Given the description of an element on the screen output the (x, y) to click on. 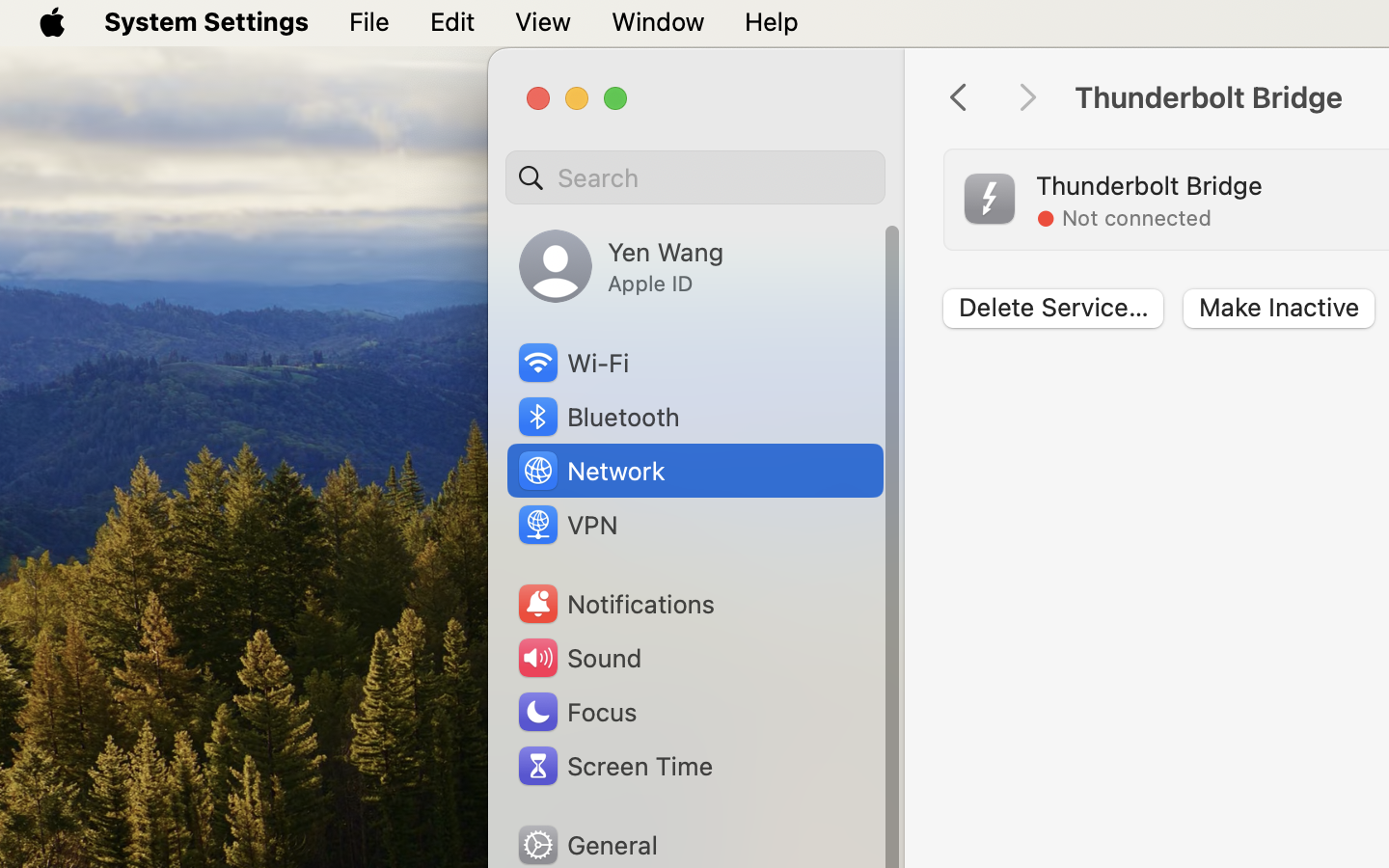
Network Element type: AXStaticText (590, 470)
Thunderbolt Bridge Element type: AXStaticText (1148, 184)
Wi‑Fi Element type: AXStaticText (571, 362)
Yen Wang, Apple ID Element type: AXStaticText (620, 265)
Screen Time Element type: AXStaticText (614, 765)
